Given the description of an element on the screen output the (x, y) to click on. 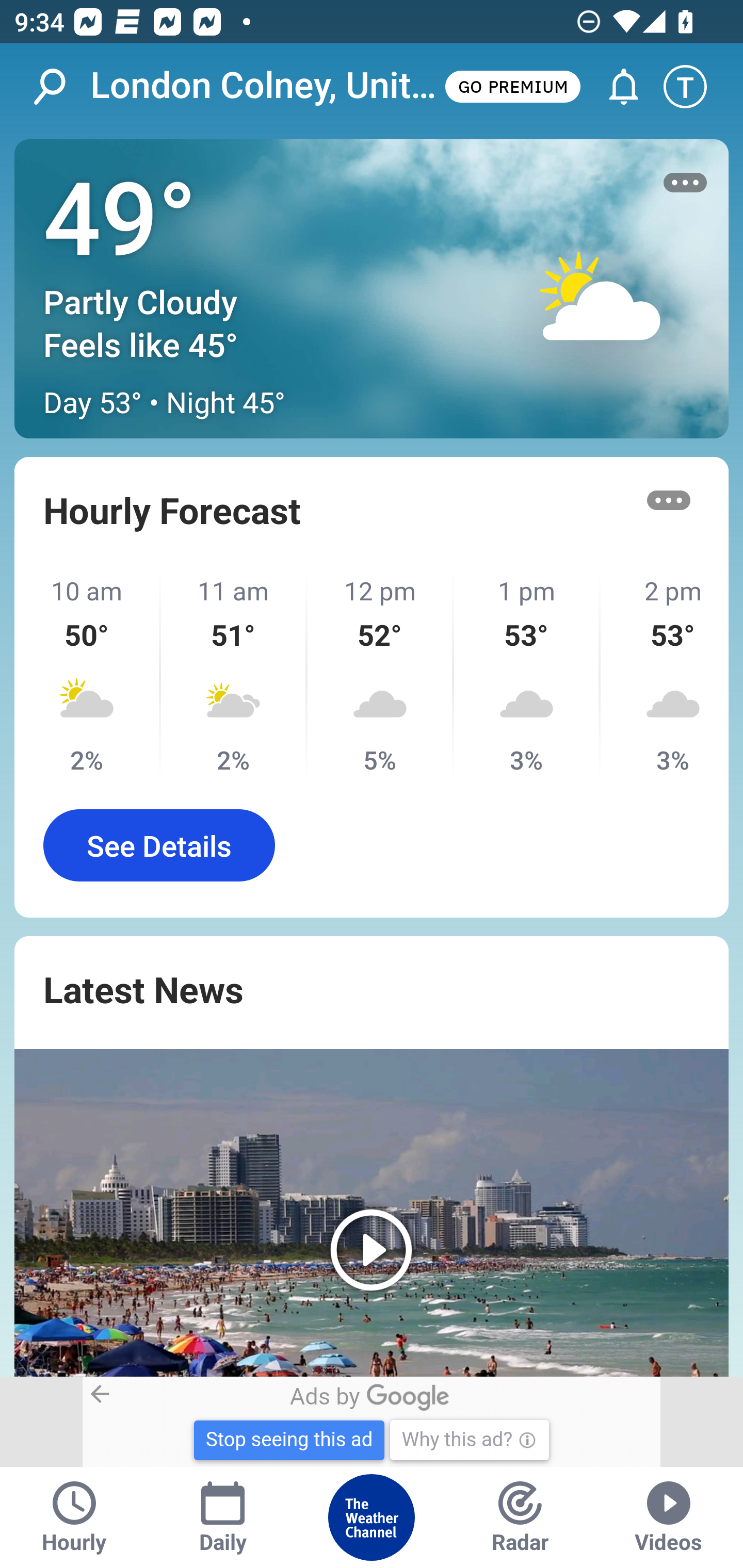
Search (59, 86)
Go to Alerts and Notifications (614, 86)
Setting icon T (694, 86)
London Colney, United Kingdom (265, 85)
GO PREMIUM (512, 85)
More options (684, 182)
More options (668, 500)
10 am 50° 2% (87, 674)
11 am 51° 2% (234, 674)
12 pm 52° 5% (380, 674)
1 pm 53° 3% (526, 674)
2 pm 53° 3% (664, 674)
See Details (158, 845)
Play (371, 1212)
Hourly Tab Hourly (74, 1517)
Daily Tab Daily (222, 1517)
Radar Tab Radar (519, 1517)
Videos Tab Videos (668, 1517)
